Given the description of an element on the screen output the (x, y) to click on. 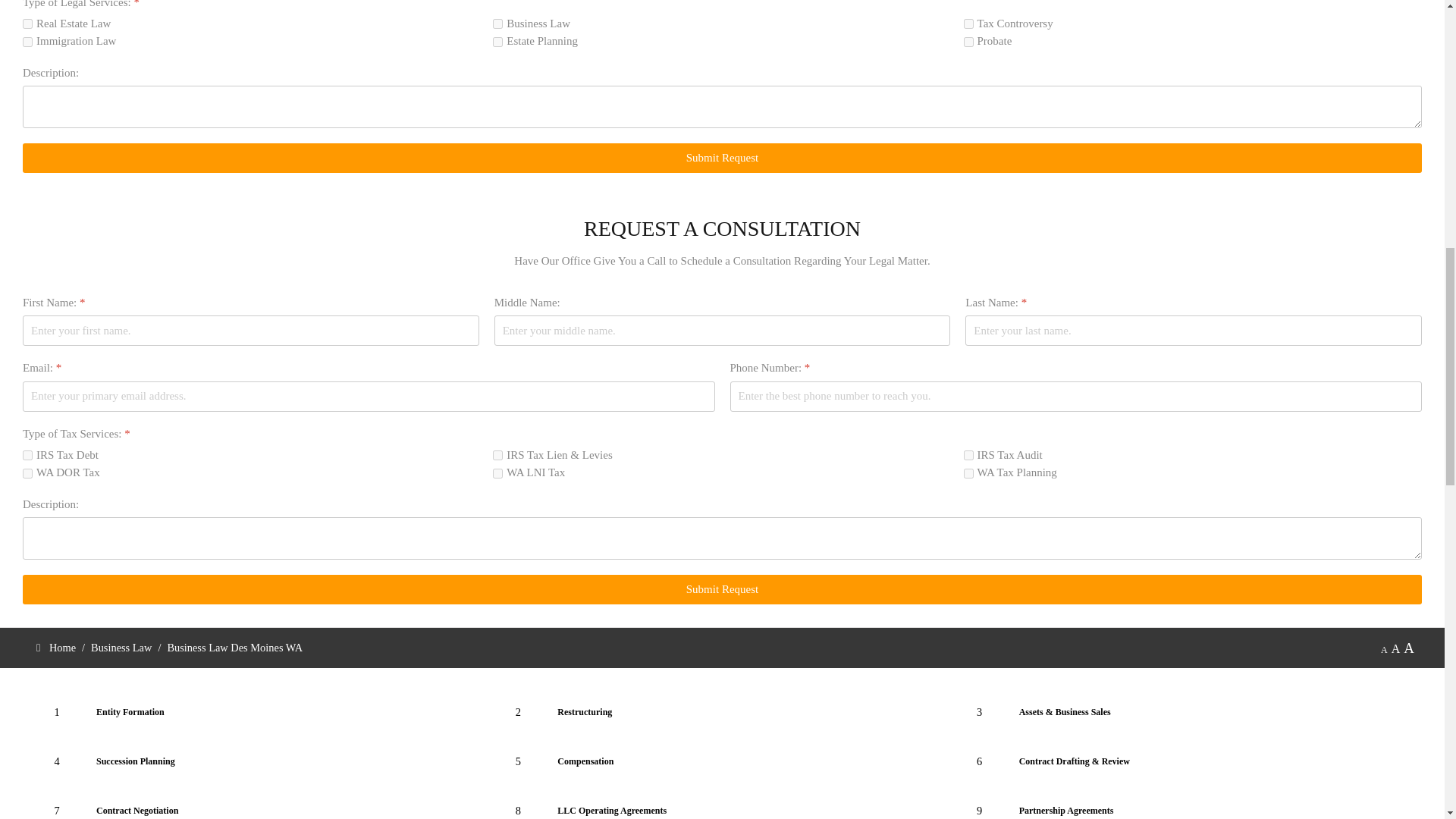
Probate (968, 41)
Home (62, 647)
Submit Request (722, 157)
Immigration Law (27, 41)
Business Law (120, 647)
IRS Tax Debt (27, 455)
Submit Request (722, 589)
WA DOR Tax (27, 473)
Real Estate Law (27, 23)
Estate Planning (497, 41)
Tax Controversy (968, 23)
IRS Tax Audit (968, 455)
Business Law (497, 23)
